Given the description of an element on the screen output the (x, y) to click on. 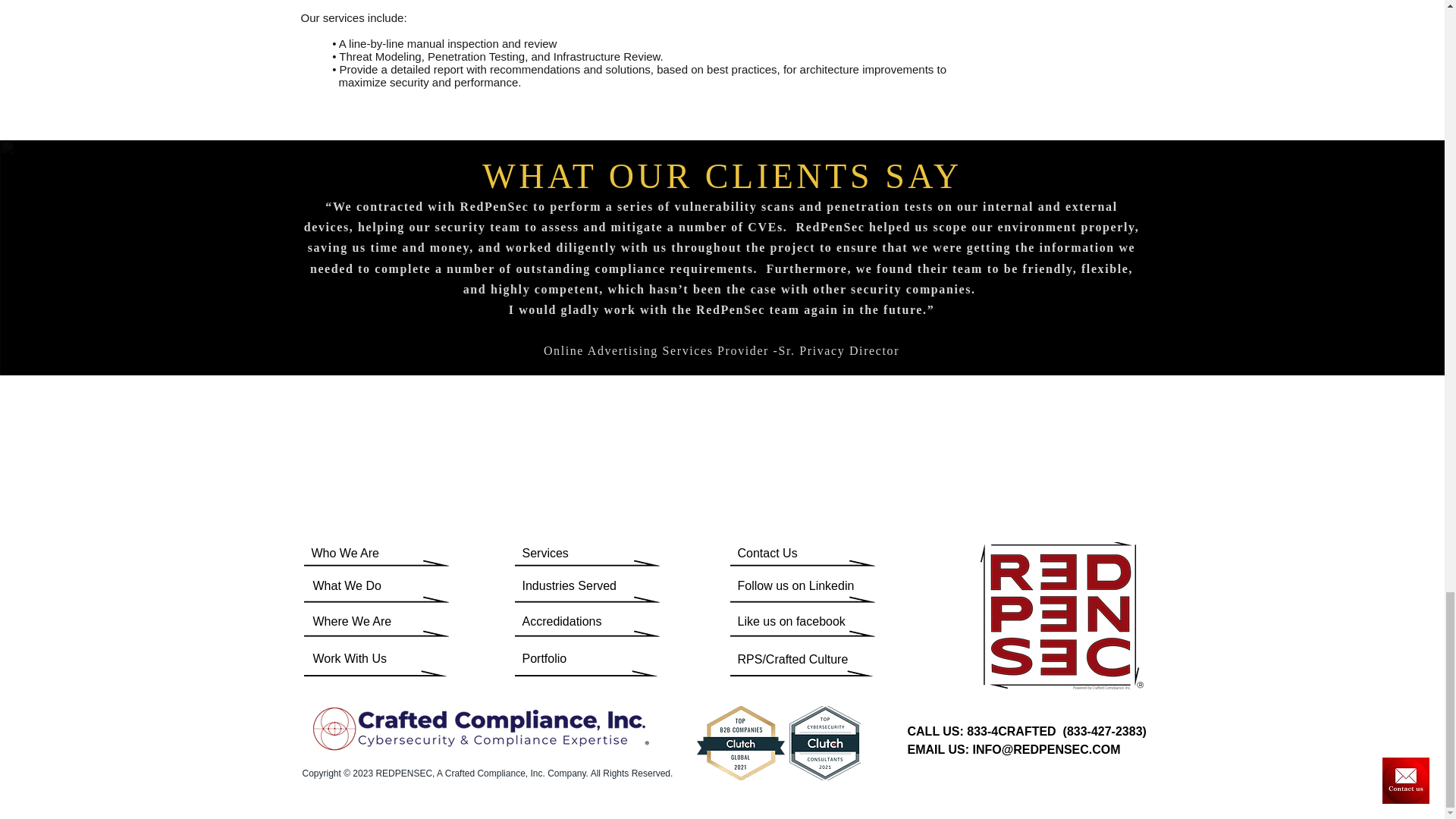
What We Do (355, 585)
Services (564, 553)
Where We Are (353, 621)
RedPenSec HOME (1060, 615)
Industries Served (570, 585)
Work With Us (353, 658)
Portfolio (562, 658)
Who We Are (368, 553)
Accredidations (575, 621)
